Given the description of an element on the screen output the (x, y) to click on. 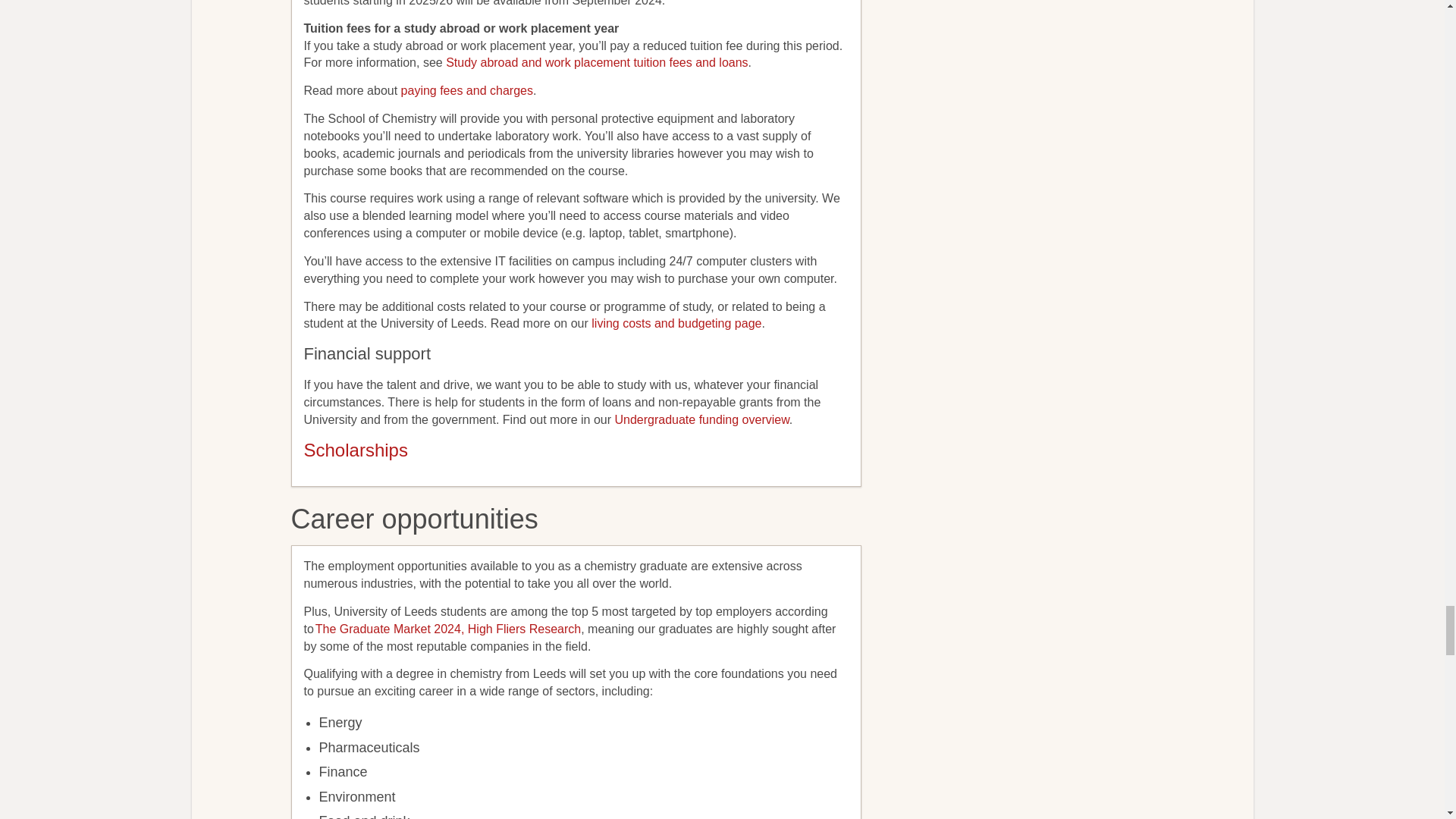
Undergraduate funding overview (701, 418)
paying fees and charges (466, 90)
